Given the description of an element on the screen output the (x, y) to click on. 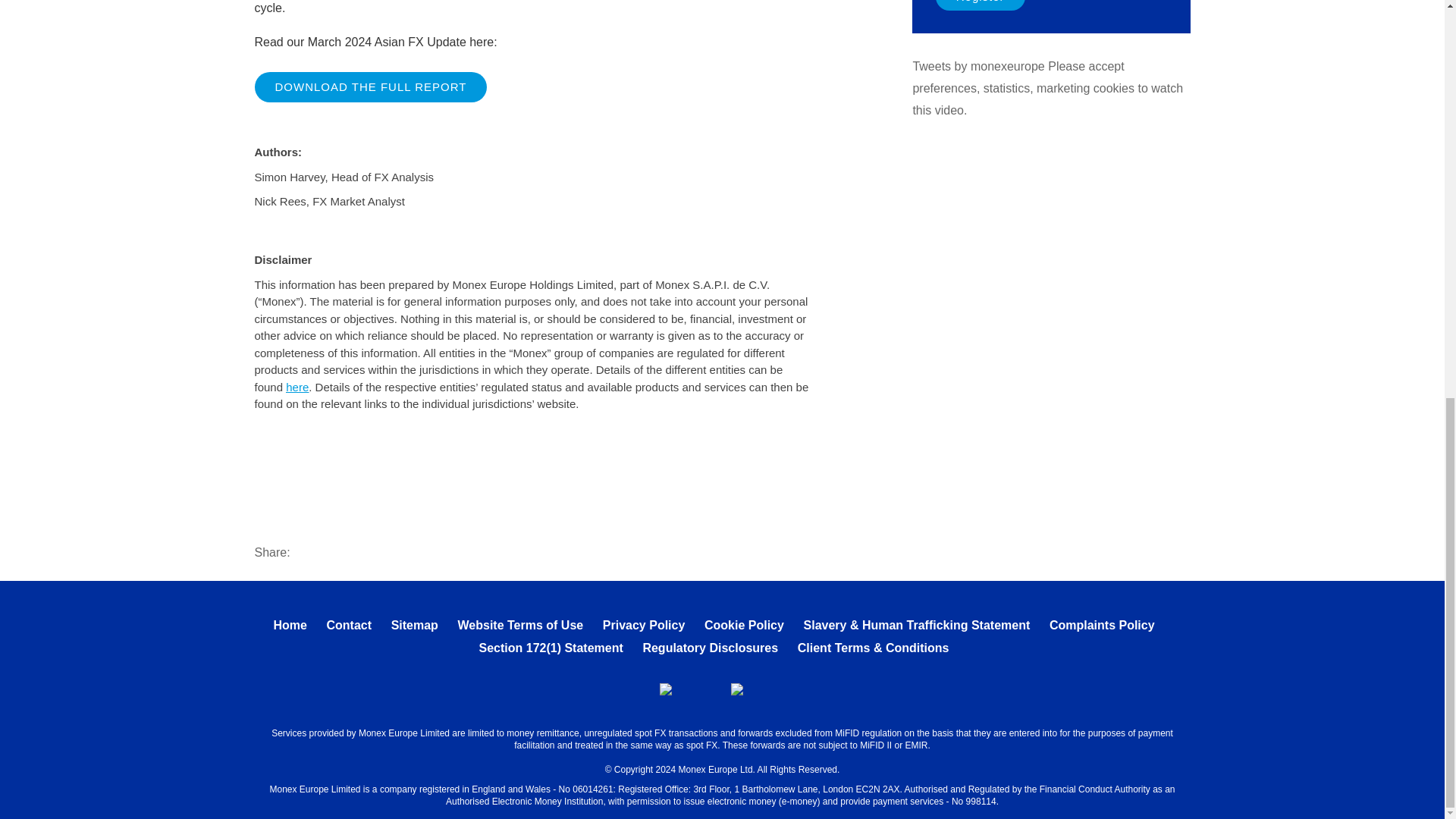
Contact (348, 625)
Website Terms of Use (520, 625)
Complaints Policy (1101, 625)
Privacy Policy (643, 625)
Tweets by monexeurope (977, 65)
here (296, 386)
DOWNLOAD THE FULL REPORT (370, 87)
Home (289, 625)
Register (980, 5)
Regulatory Disclosures (709, 647)
Cookie Policy (744, 625)
Sitemap (414, 625)
preferences, statistics, marketing (1000, 88)
